Given the description of an element on the screen output the (x, y) to click on. 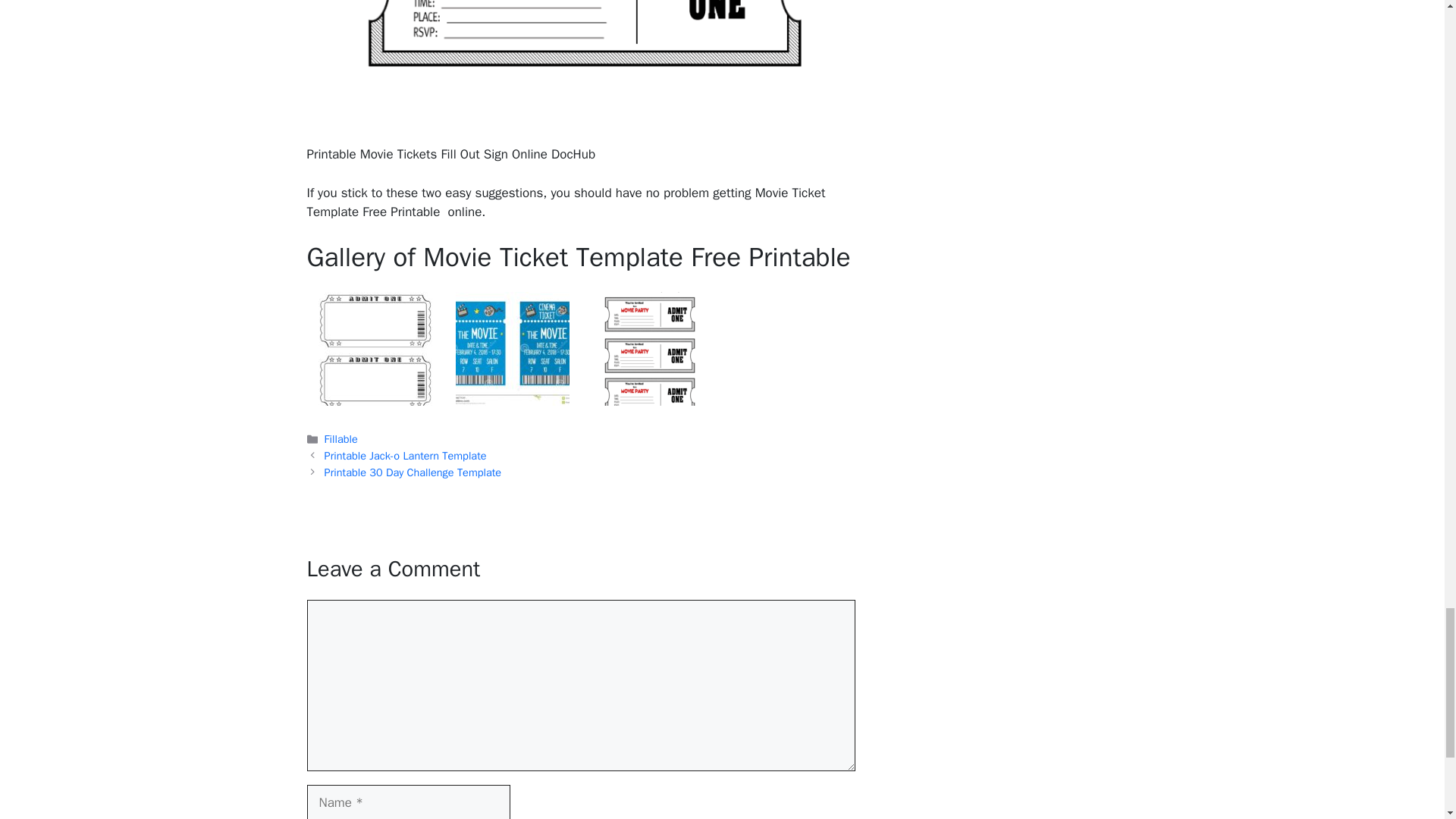
Printable 30 Day Challenge Template (413, 472)
Printable Movie Tickets Fill Out Sign Online DocHub (579, 63)
Printable Jack-o Lantern Template (405, 455)
Fillable (341, 438)
